Given the description of an element on the screen output the (x, y) to click on. 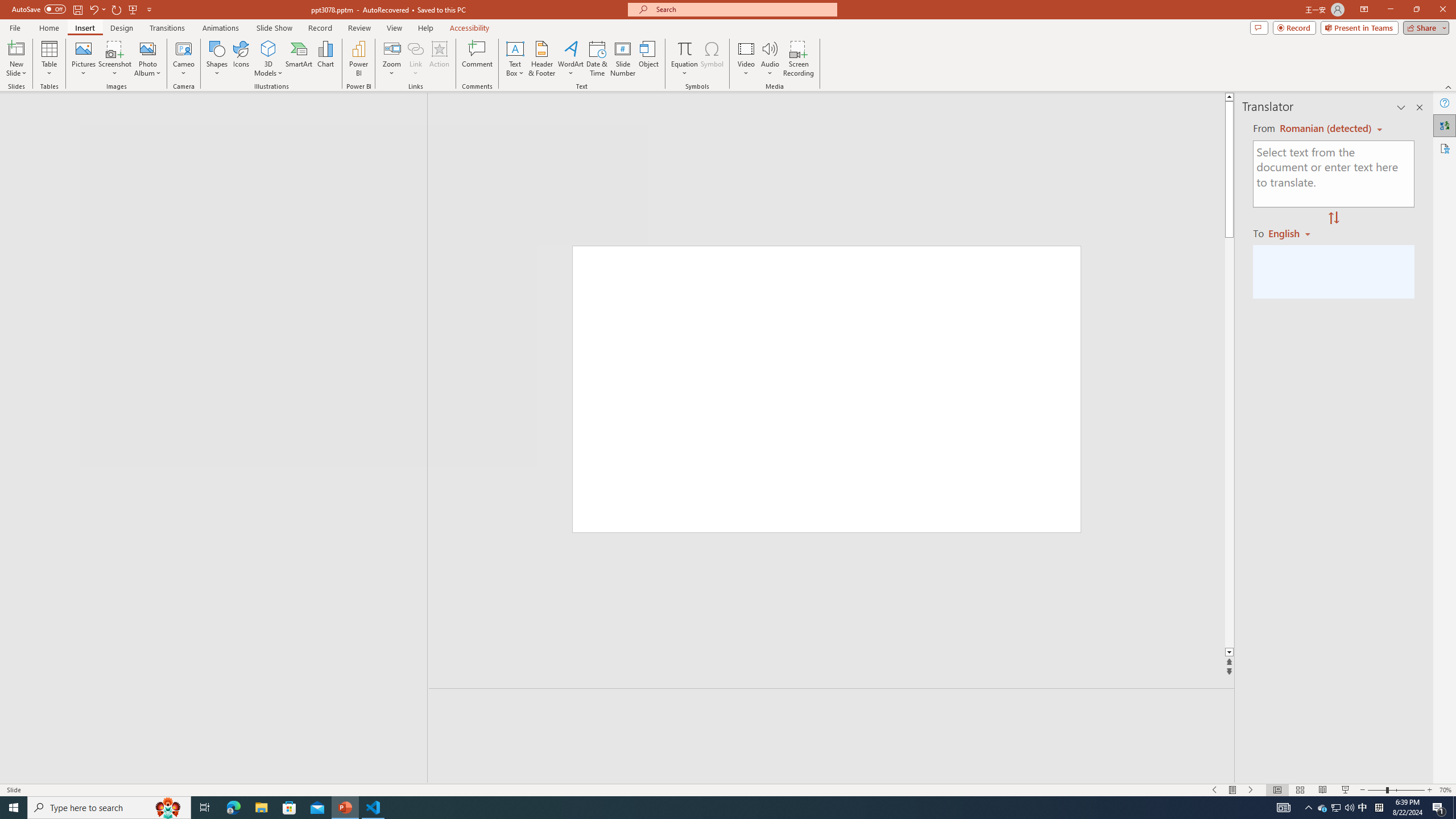
Link (415, 58)
Action (439, 58)
Comment (476, 58)
New Photo Album... (147, 48)
Screen Recording... (798, 58)
Slide Show Next On (1250, 790)
SmartArt... (298, 58)
